Given the description of an element on the screen output the (x, y) to click on. 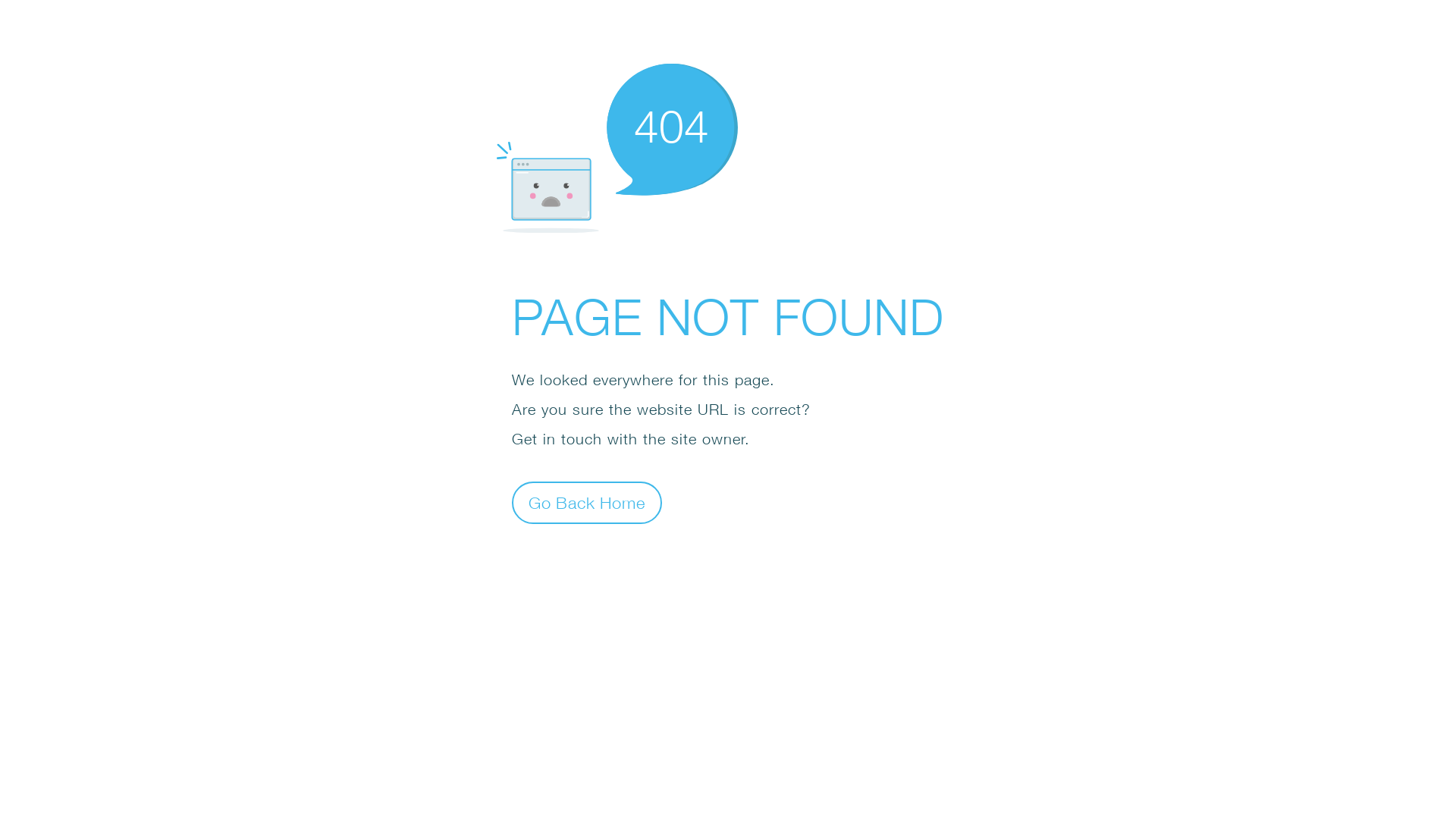
Go Back Home Element type: text (586, 502)
